Given the description of an element on the screen output the (x, y) to click on. 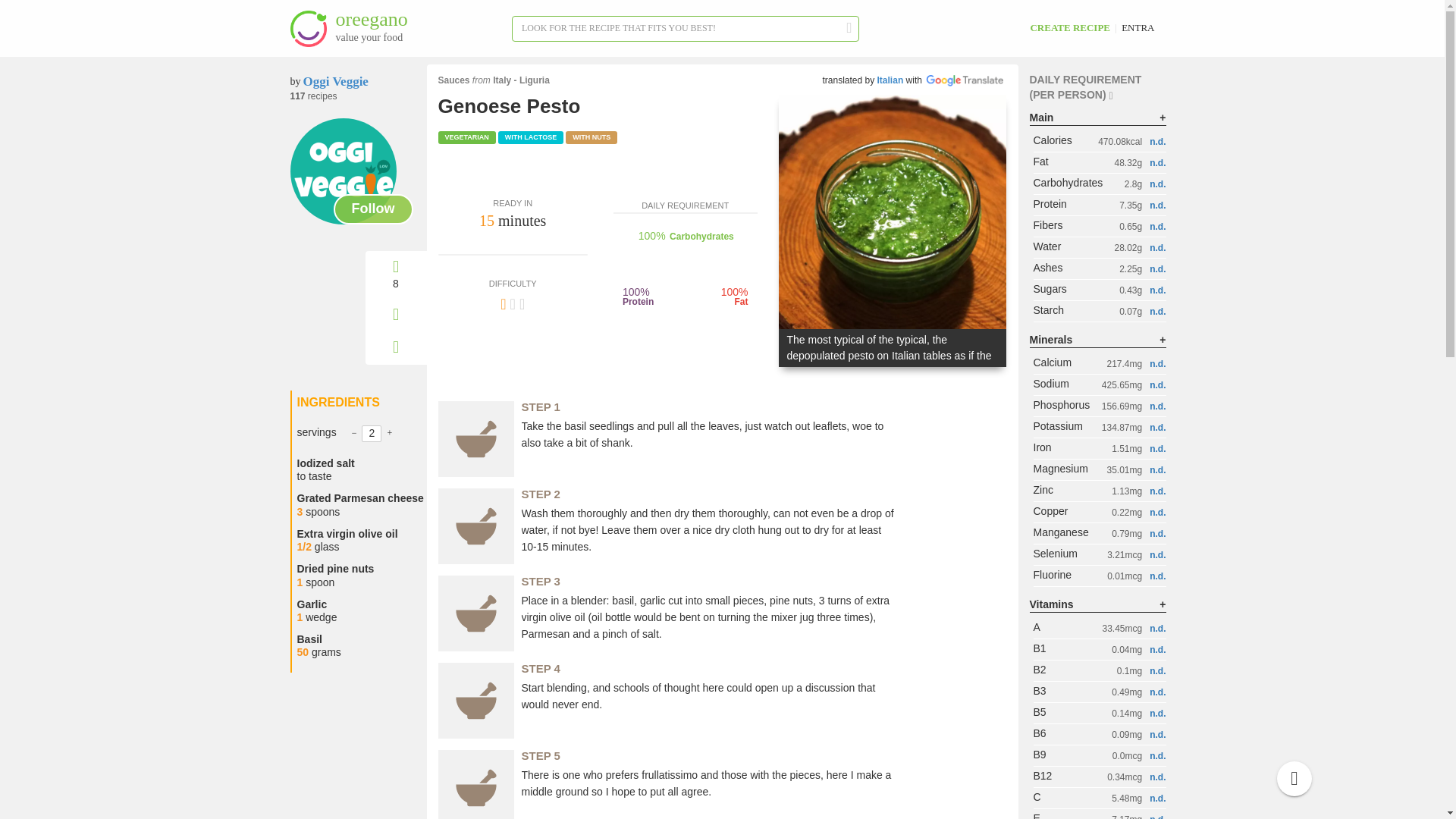
oreegano (307, 28)
8 (395, 274)
Genoese Pesto step 3 (475, 613)
CREATE RECIPE (1069, 27)
Genoese Pesto step 1 (475, 438)
Genoese Pesto step 2 (475, 526)
ENTRA (1137, 27)
Oggi Veggie (389, 28)
Follow (335, 81)
Genoese Pesto step 4 (373, 209)
Genoese Pesto (475, 700)
Oggi Veggie avatar (892, 212)
Genoese Pesto step 5 (342, 170)
google translate (475, 784)
